Given the description of an element on the screen output the (x, y) to click on. 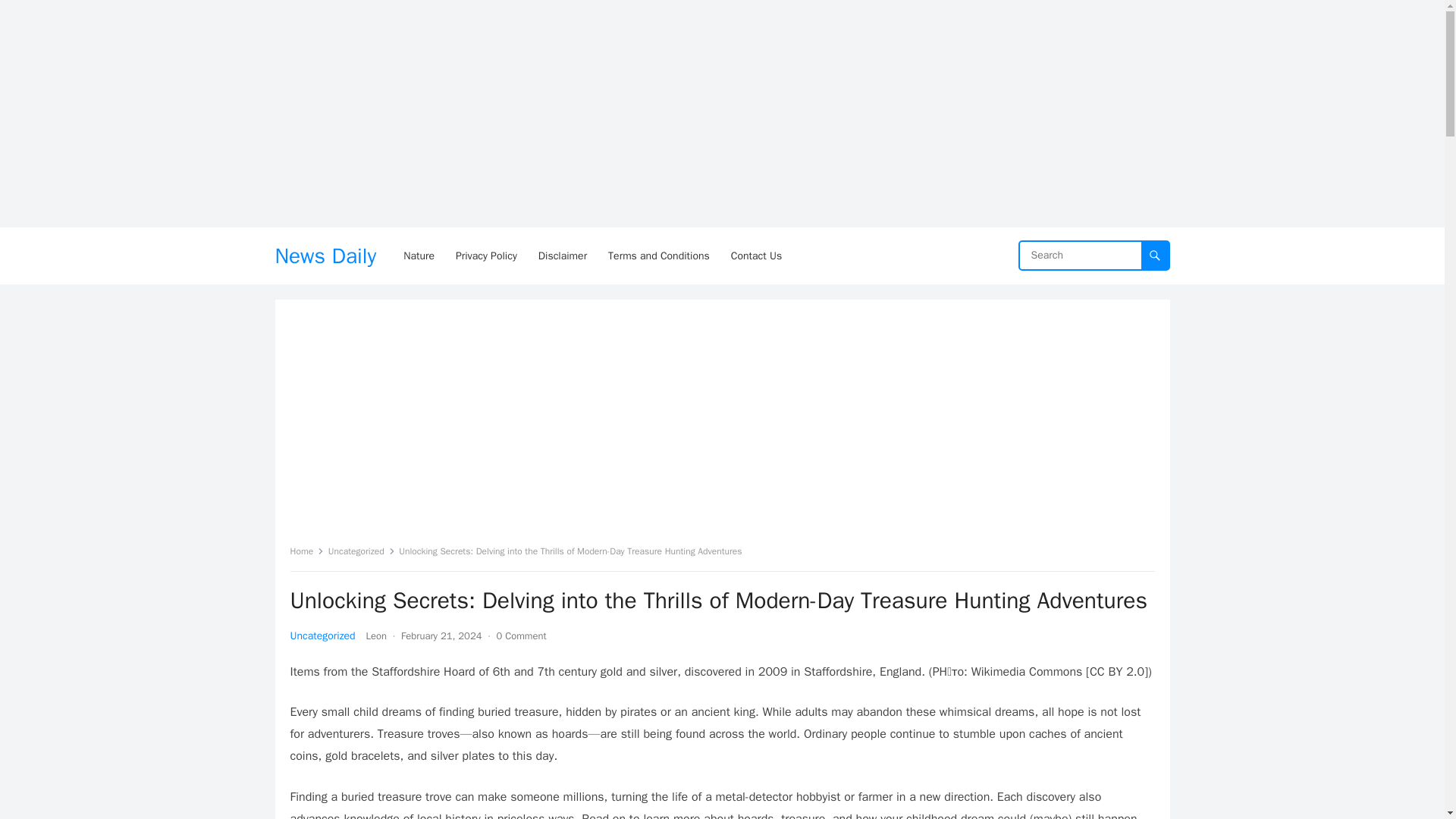
Uncategorized (322, 635)
Uncategorized (361, 551)
0 Comment (521, 635)
Leon (376, 635)
Privacy Policy (485, 255)
Home (306, 551)
News Daily (325, 255)
Contact Us (756, 255)
Disclaimer (562, 255)
Terms and Conditions (658, 255)
Posts by Leon (376, 635)
